Given the description of an element on the screen output the (x, y) to click on. 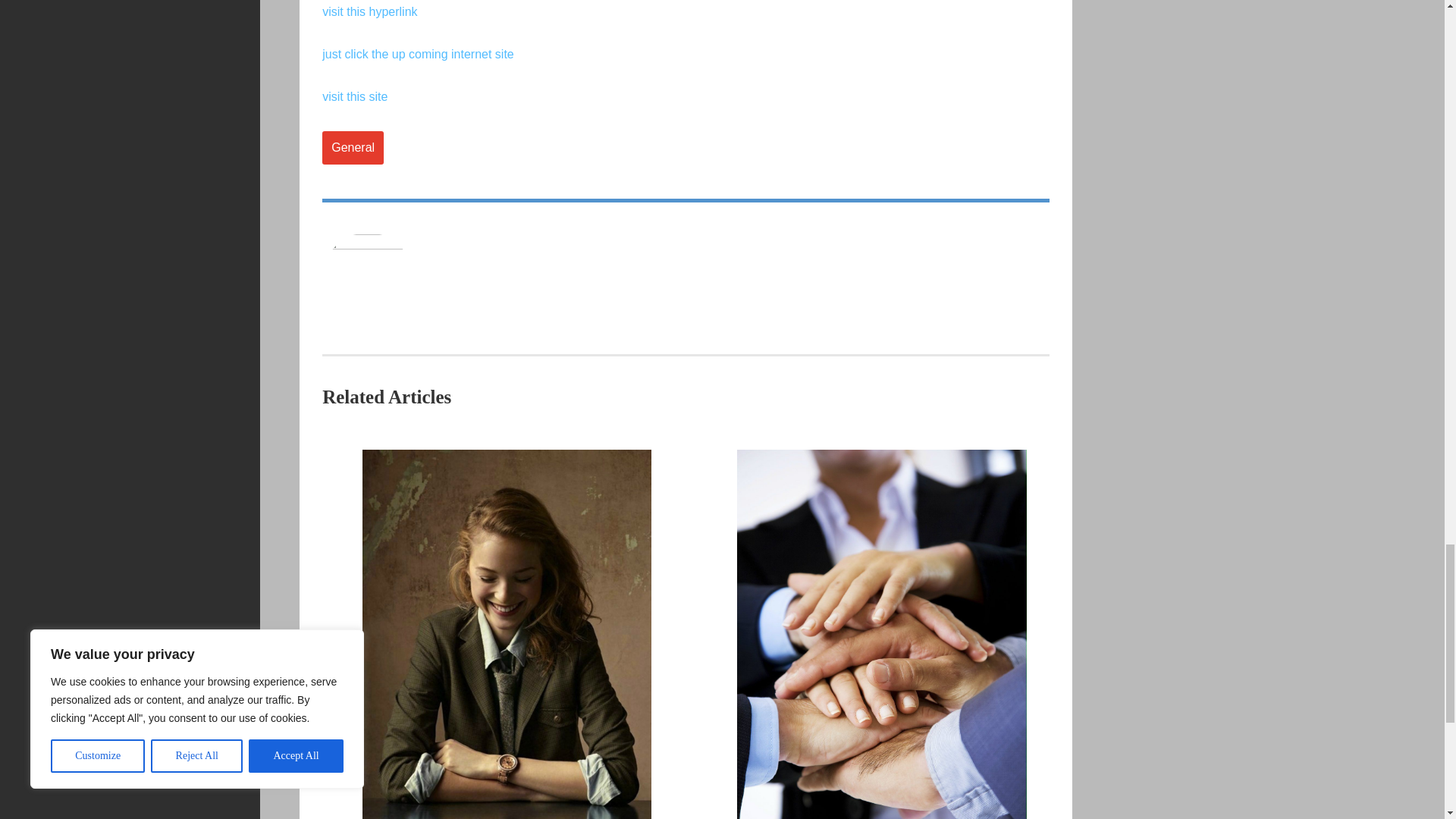
visit this hyperlink (368, 11)
General (352, 147)
visit this site (354, 96)
just click the up coming internet site (417, 53)
